Given the description of an element on the screen output the (x, y) to click on. 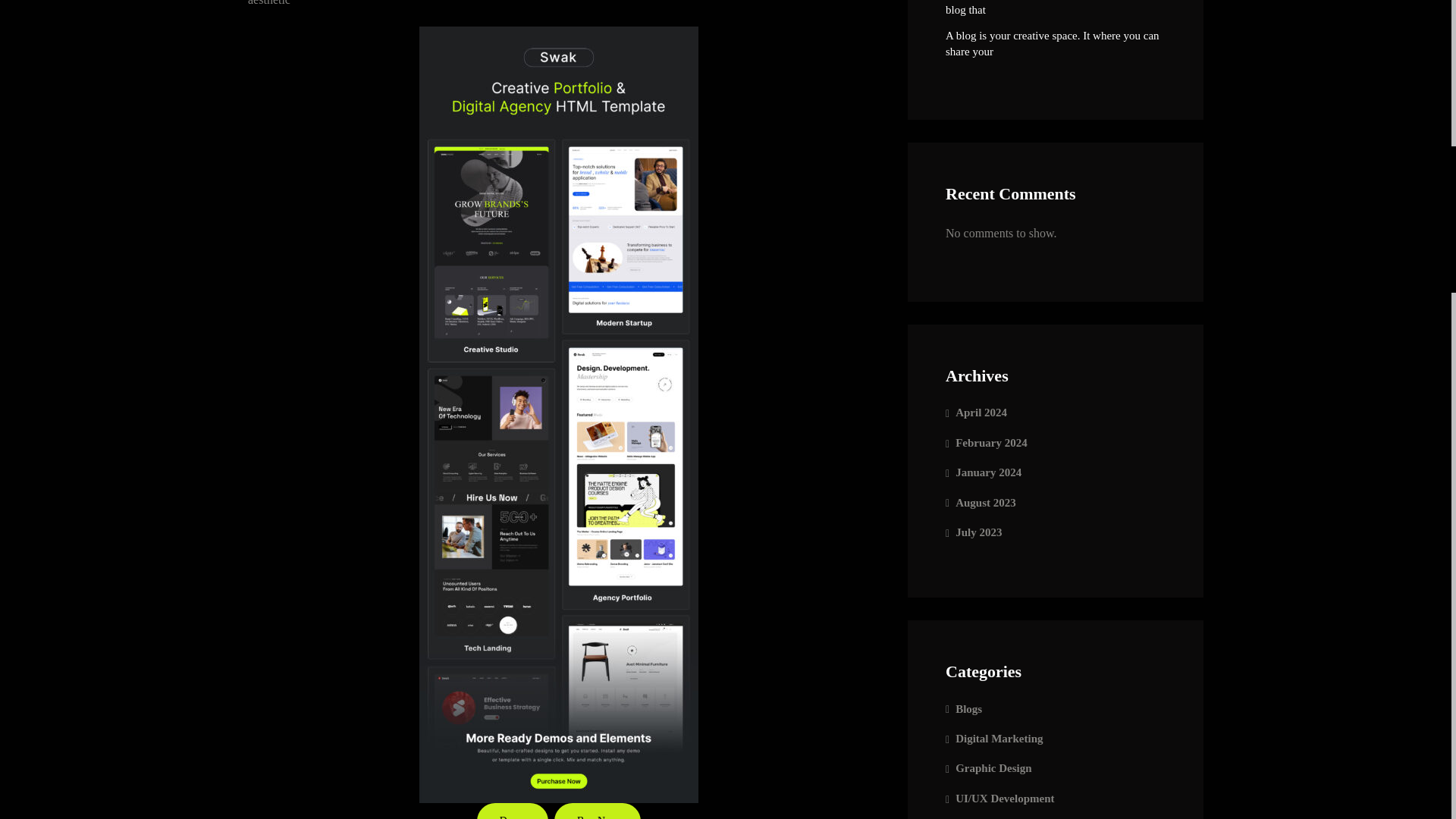
Demo (512, 811)
Buy Now (597, 811)
